Given the description of an element on the screen output the (x, y) to click on. 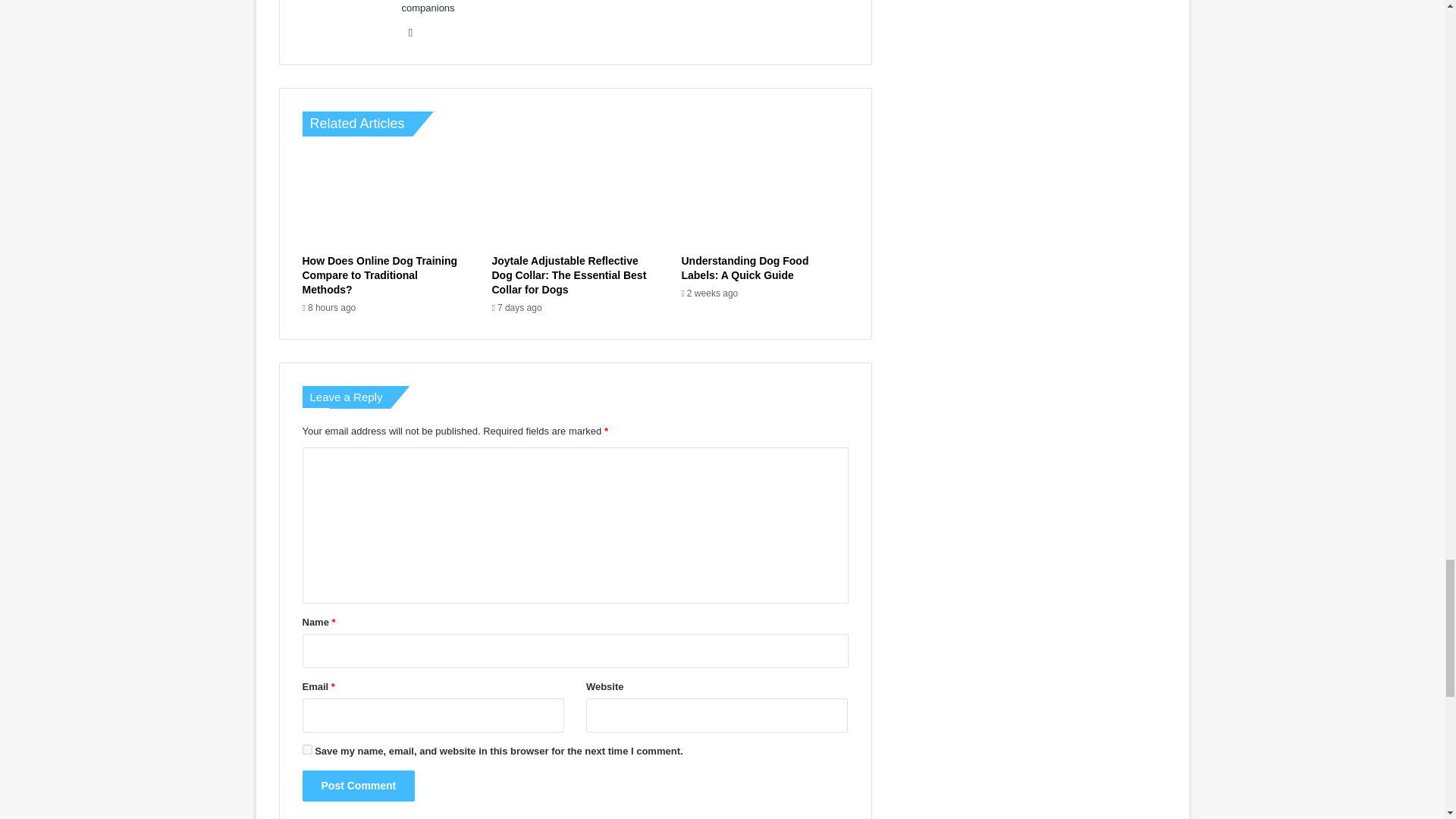
Post Comment (357, 785)
yes (306, 749)
